Given the description of an element on the screen output the (x, y) to click on. 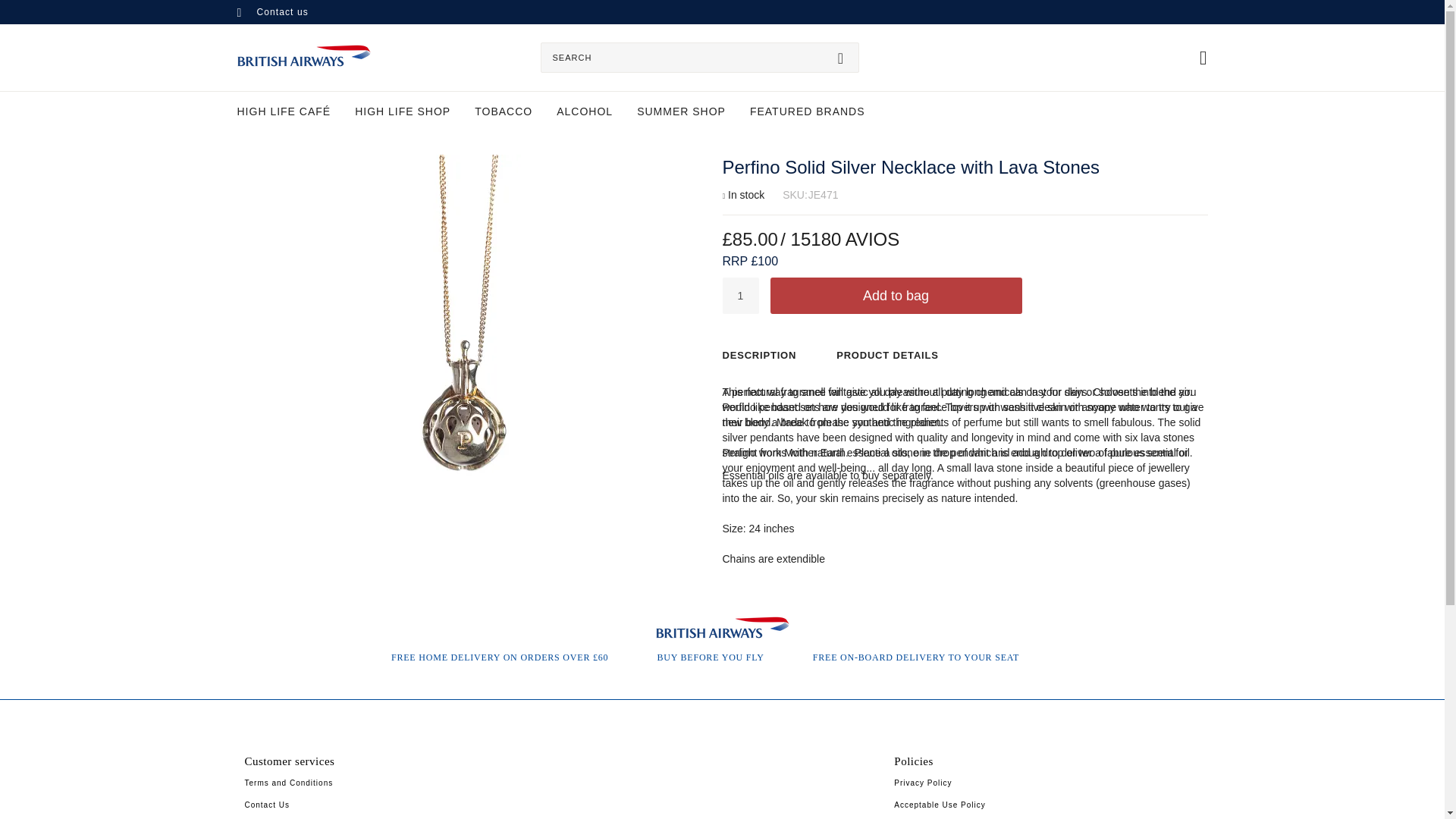
British Airways (302, 55)
Contact us (271, 10)
Search (839, 56)
1 (740, 295)
Add to bag (896, 295)
Availability (743, 195)
Search (839, 56)
Qty (740, 295)
